Given the description of an element on the screen output the (x, y) to click on. 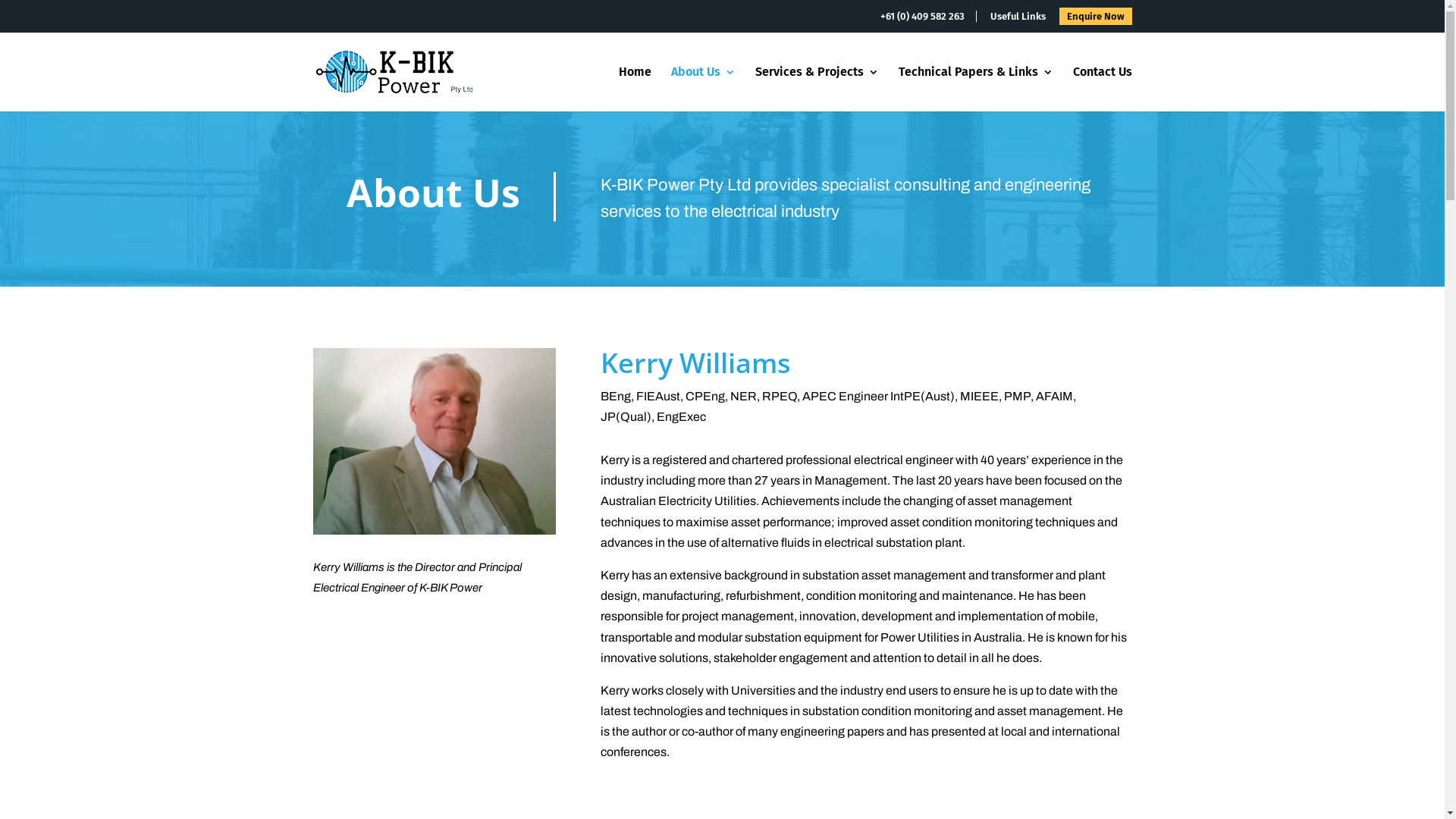
Technical Papers & Links Element type: text (974, 88)
Services & Projects Element type: text (816, 88)
+61 (0) 409 582 263 Element type: text (927, 16)
Enquire Now Element type: text (1094, 16)
Home Element type: text (634, 88)
About Us Element type: text (702, 88)
Contact Us Element type: text (1101, 88)
Useful Links Element type: text (1017, 16)
